Given the description of an element on the screen output the (x, y) to click on. 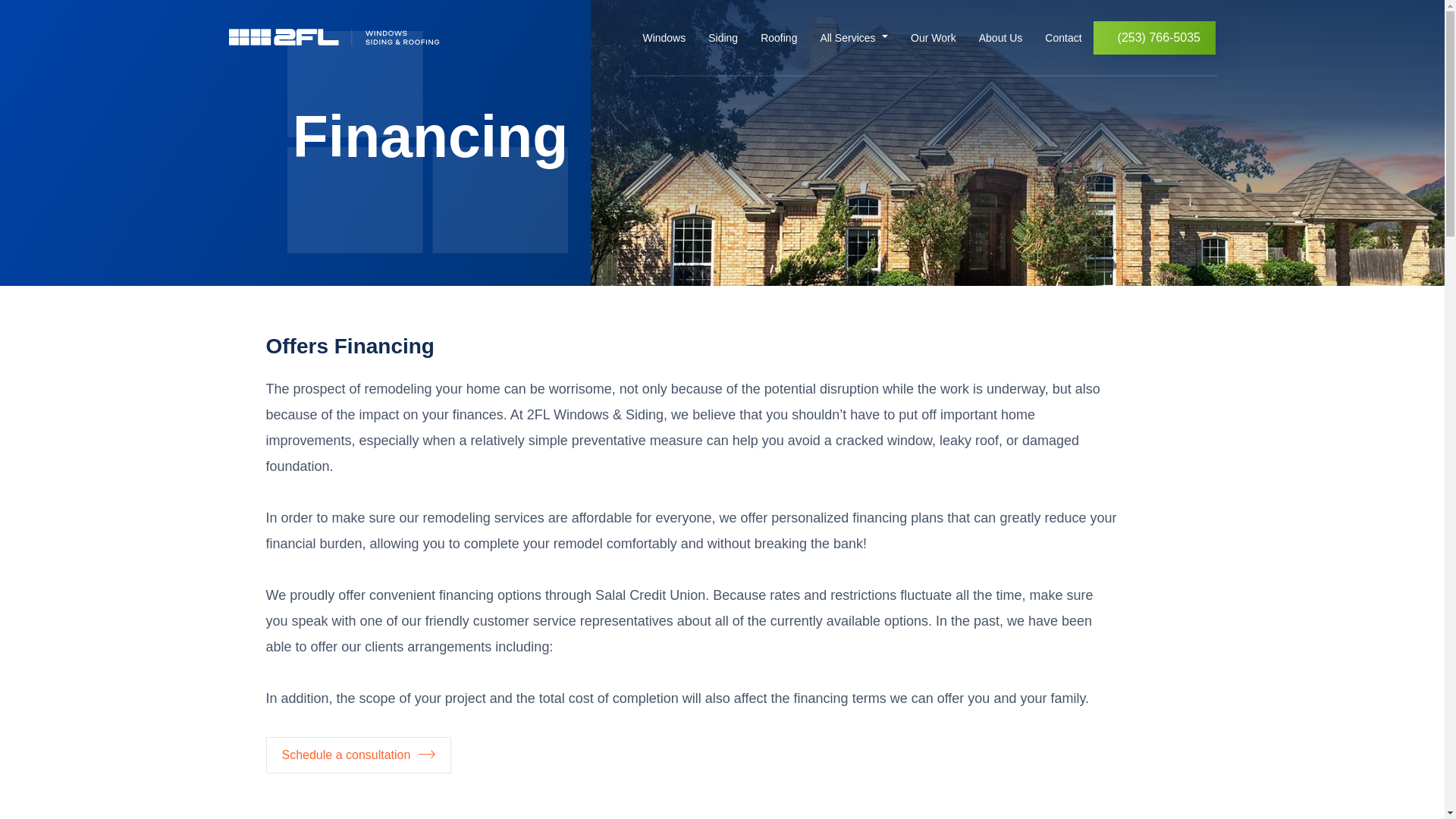
Our Work (933, 37)
All Services (847, 37)
Siding (722, 37)
Windows (663, 37)
Contact (1063, 37)
Schedule a consultation (357, 755)
About Us (1000, 37)
Roofing (778, 37)
